Given the description of an element on the screen output the (x, y) to click on. 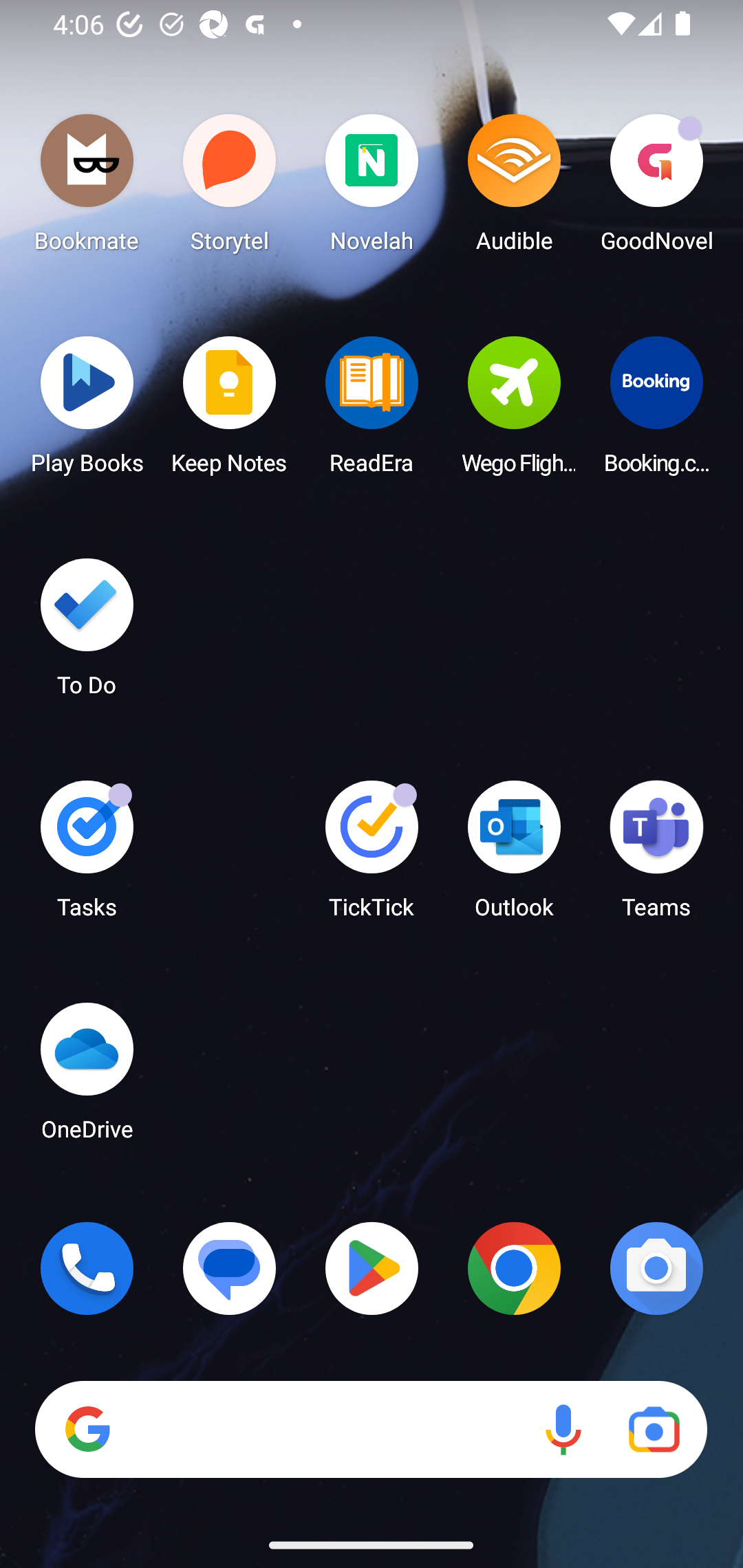
Bookmate (86, 188)
Storytel (229, 188)
Novelah (371, 188)
Audible (513, 188)
GoodNovel GoodNovel has 1 notification (656, 188)
Play Books (86, 410)
Keep Notes (229, 410)
ReadEra (371, 410)
Wego Flights & Hotels (513, 410)
Booking.com (656, 410)
To Do (86, 633)
Tasks Tasks has 1 notification (86, 854)
TickTick TickTick has 3 notifications (371, 854)
Outlook (513, 854)
Teams (656, 854)
OneDrive (86, 1076)
Phone (86, 1268)
Messages (229, 1268)
Play Store (371, 1268)
Chrome (513, 1268)
Camera (656, 1268)
Search Voice search Google Lens (370, 1429)
Voice search (562, 1429)
Google Lens (653, 1429)
